Given the description of an element on the screen output the (x, y) to click on. 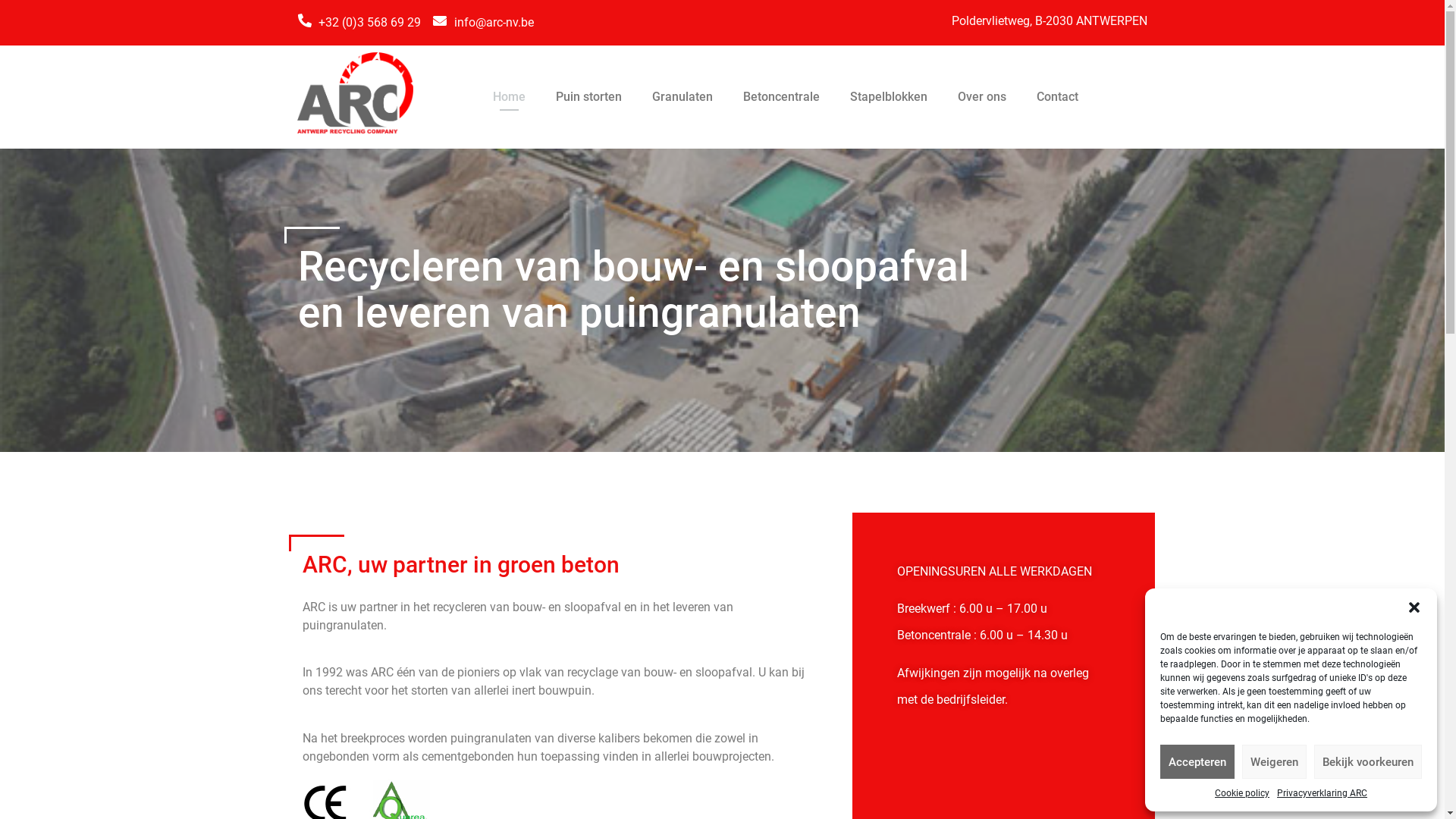
Logo ARC Element type: hover (355, 92)
Home Element type: text (508, 96)
Bekijk voorkeuren Element type: text (1367, 761)
Cookie policy Element type: text (1241, 793)
Betoncentrale Element type: text (781, 96)
Privacyverklaring ARC Element type: text (1322, 793)
Puin storten Element type: text (588, 96)
Accepteren Element type: text (1197, 761)
Stapelblokken Element type: text (888, 96)
Over ons Element type: text (981, 96)
+32 (0)3 568 69 29 Element type: text (358, 22)
Weigeren Element type: text (1274, 761)
Granulaten Element type: text (682, 96)
info@arc-nv.be Element type: text (483, 22)
Contact Element type: text (1057, 96)
